Given the description of an element on the screen output the (x, y) to click on. 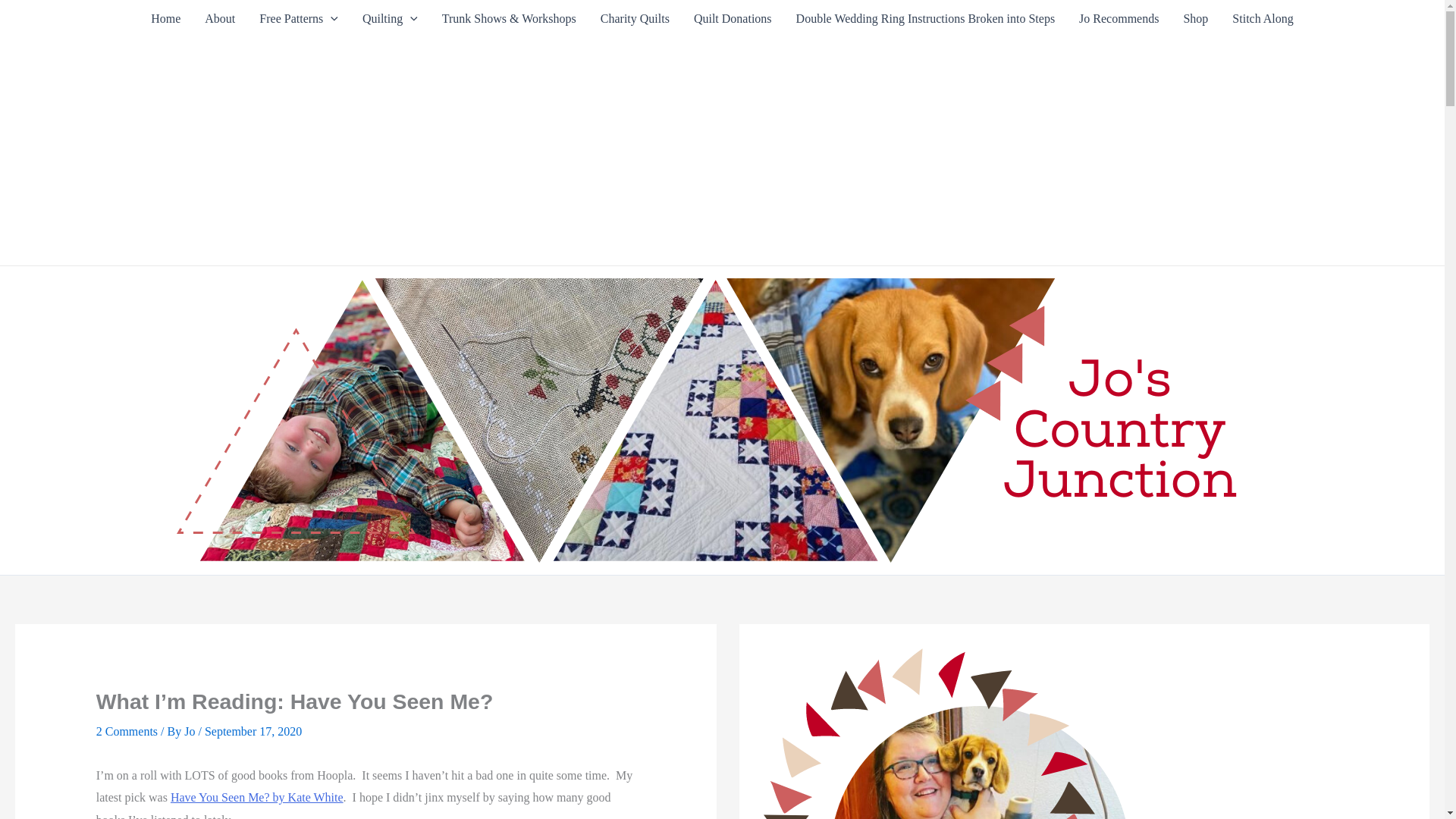
Home (165, 18)
Free Patterns (298, 18)
Quilting (389, 18)
Charity Quilts (634, 18)
Quilts of 2012 (389, 18)
View all posts by Jo (191, 730)
Quilt Donations (732, 18)
About (219, 18)
